Given the description of an element on the screen output the (x, y) to click on. 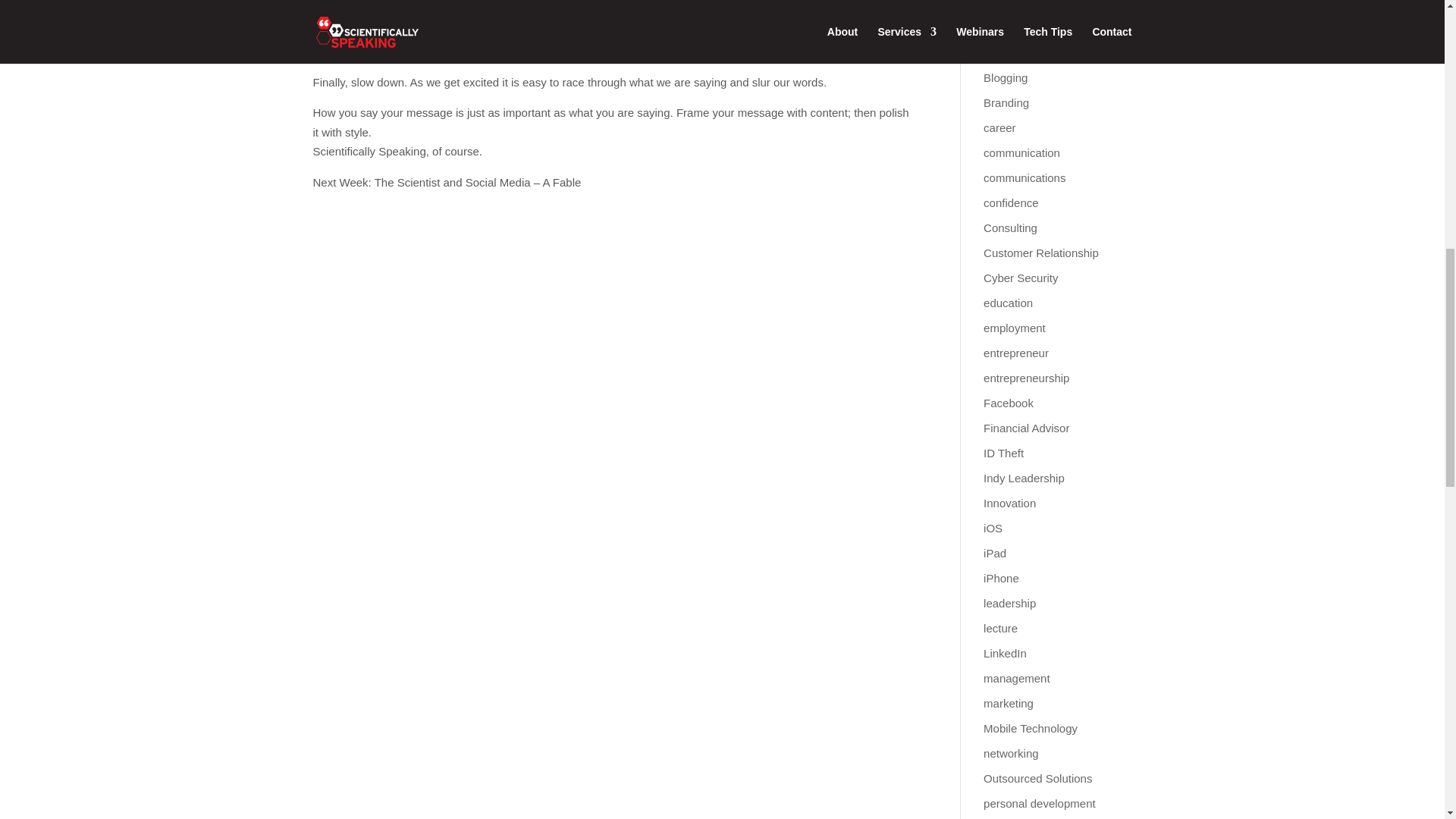
Apple OS (1008, 4)
Apple OS X (1013, 27)
Consulting (1010, 227)
Blogging (1005, 77)
communication (1021, 152)
confidence (1011, 202)
education (1008, 302)
career (1000, 127)
Branding (1006, 102)
Customer Relationship (1041, 252)
communications (1024, 177)
Cyber Security (1021, 277)
Attitude (1003, 51)
